Given the description of an element on the screen output the (x, y) to click on. 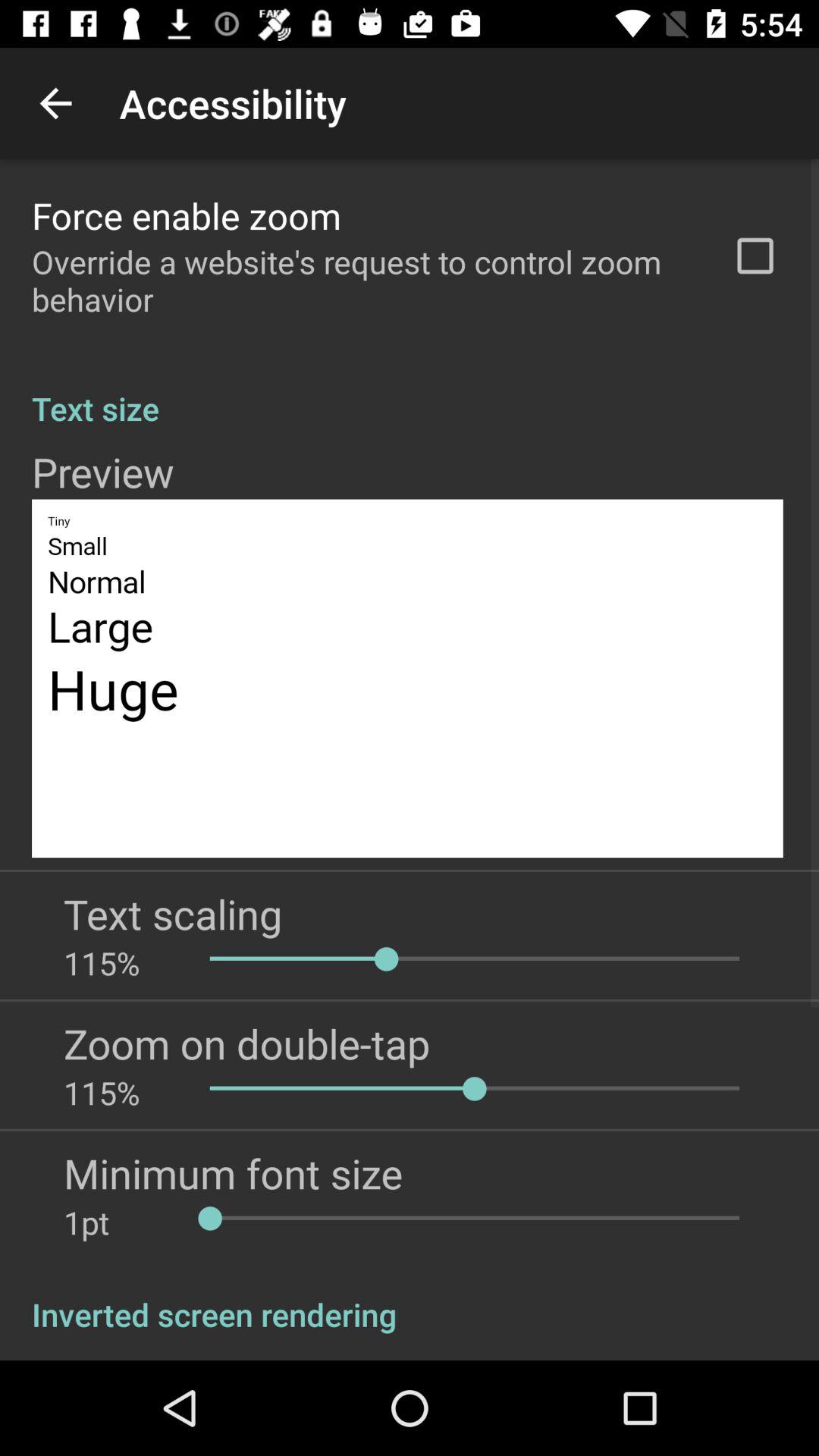
click on the button which is empty box at the top right side of the page (755, 256)
